Given the description of an element on the screen output the (x, y) to click on. 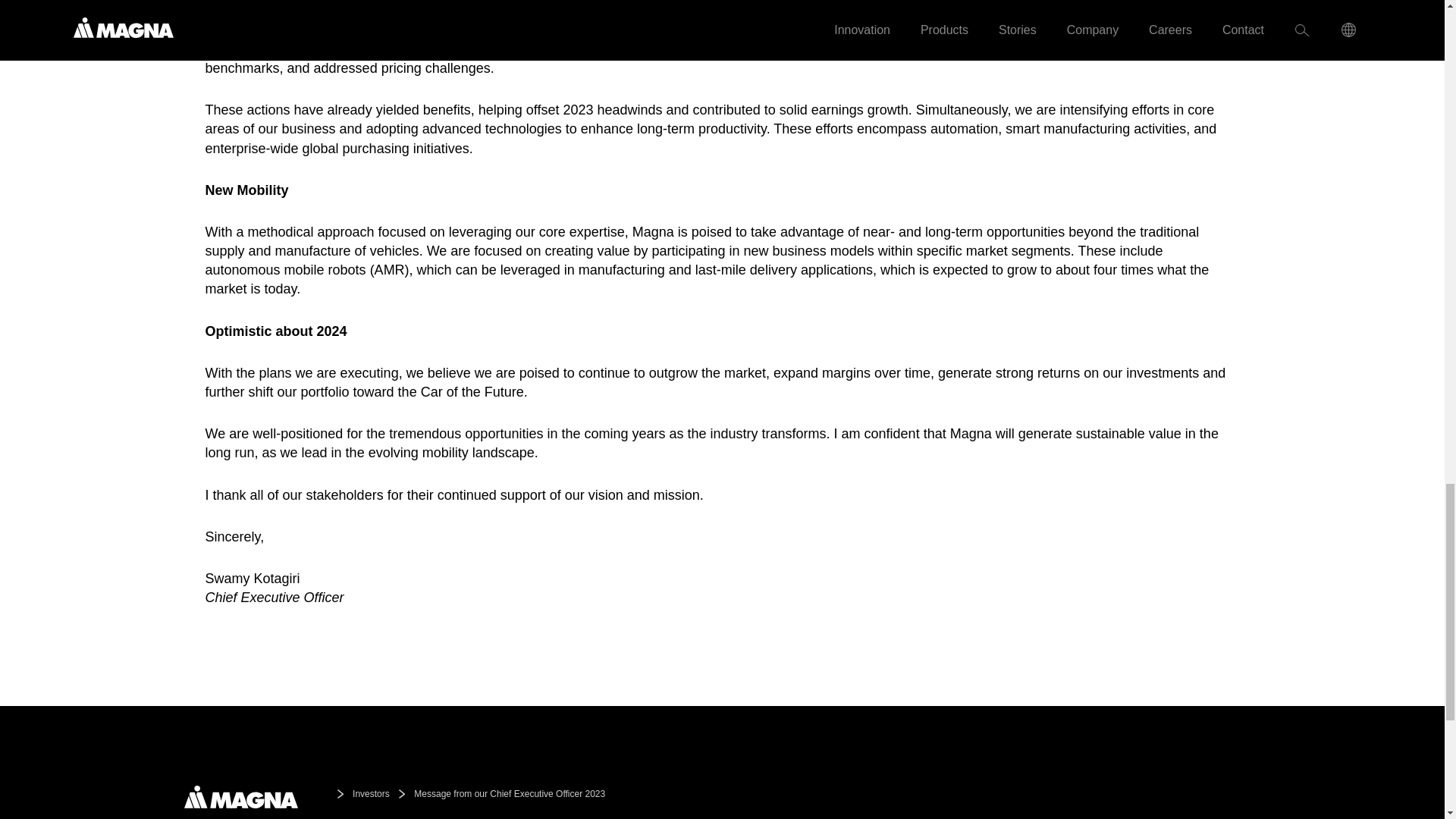
Driving Excellence. Inspiring Innovation. (240, 796)
